Given the description of an element on the screen output the (x, y) to click on. 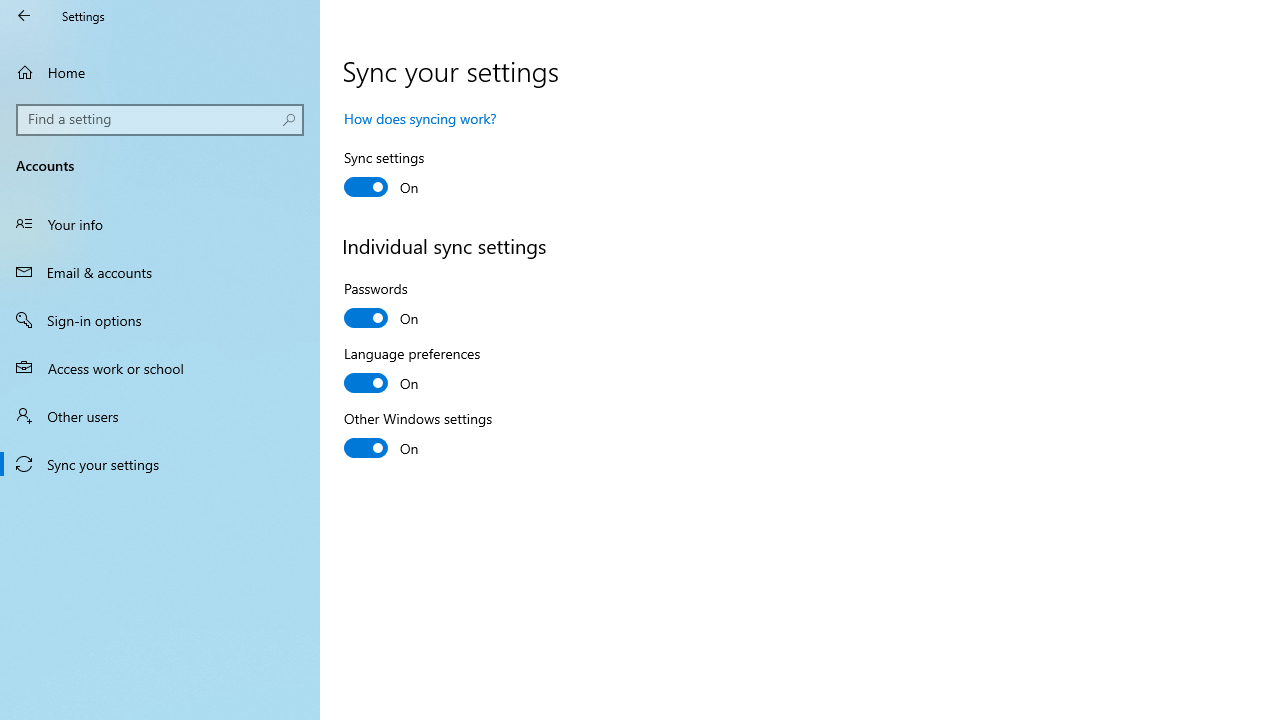
Your info (160, 223)
Search box, Find a setting (160, 119)
Email & accounts (160, 271)
Home (160, 71)
Sync your settings (160, 463)
Passwords (417, 306)
Access work or school (160, 367)
Sign-in options (160, 319)
Other users (160, 415)
How does syncing work? (420, 118)
Sync settings (417, 175)
Language preferences (417, 371)
Back (24, 15)
Other Windows settings (418, 435)
